Given the description of an element on the screen output the (x, y) to click on. 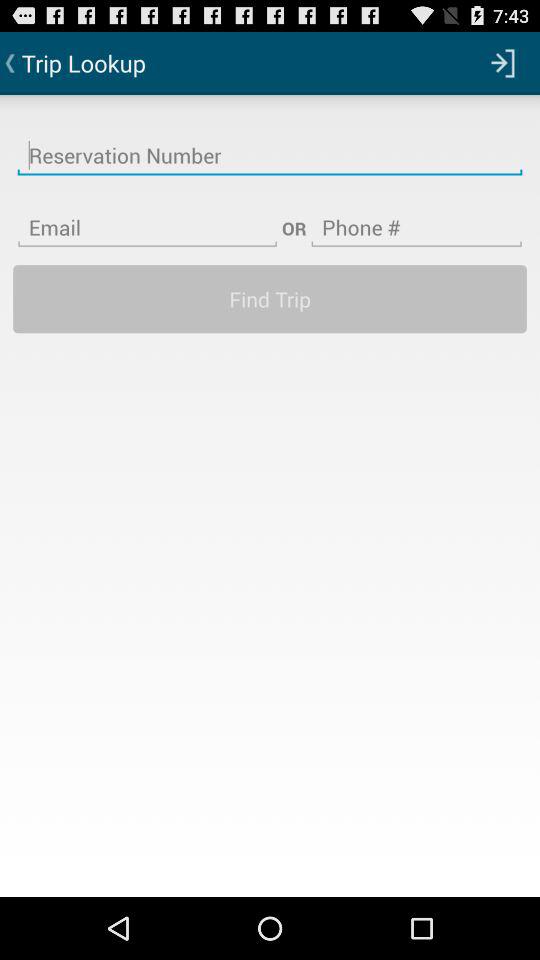
click icon next to or icon (416, 215)
